Given the description of an element on the screen output the (x, y) to click on. 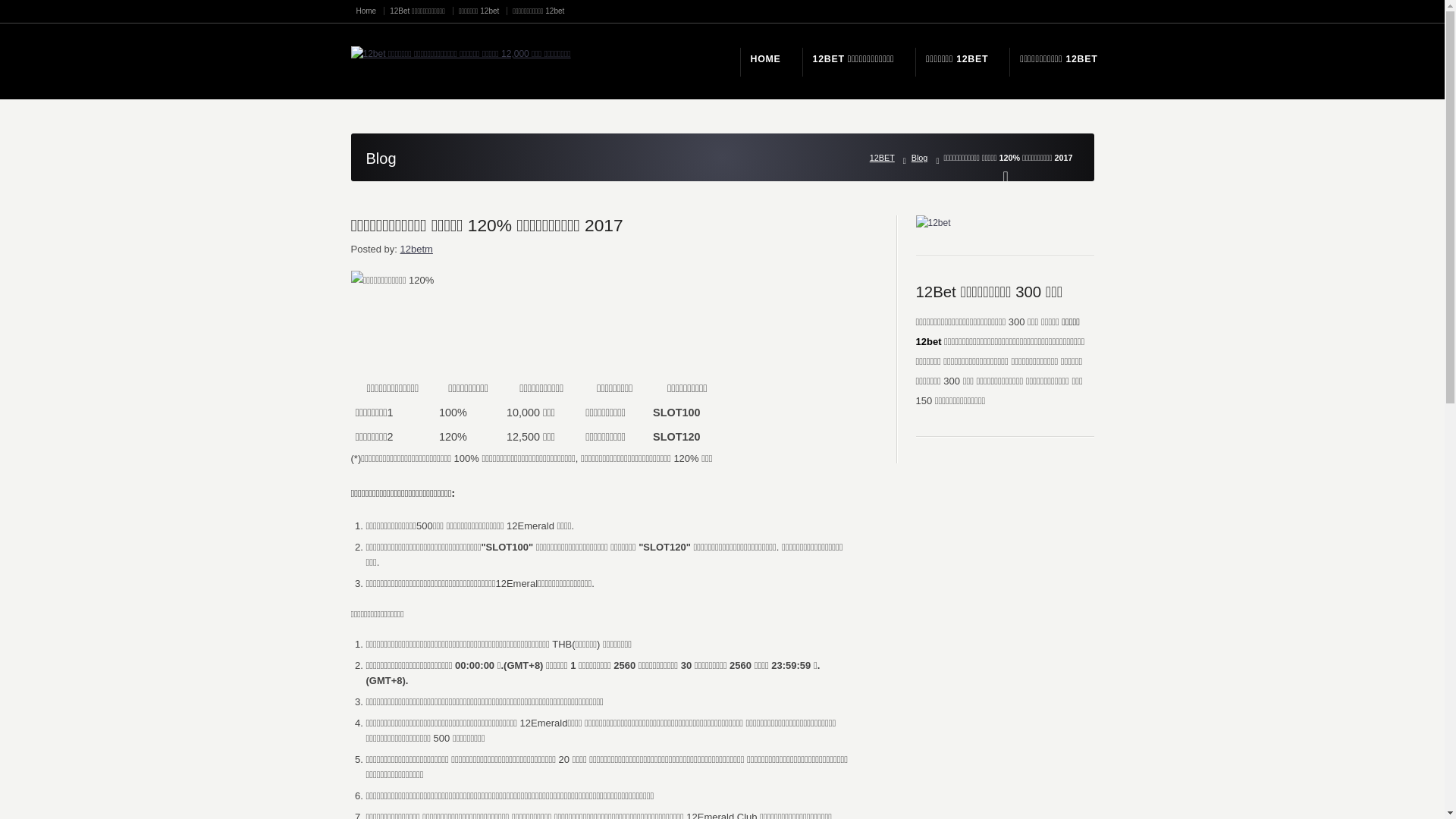
Blog Element type: text (922, 157)
12BET Element type: text (885, 157)
12bet Element type: hover (933, 222)
HOME Element type: text (765, 58)
12betm Element type: text (416, 248)
Home Element type: text (370, 10)
